Given the description of an element on the screen output the (x, y) to click on. 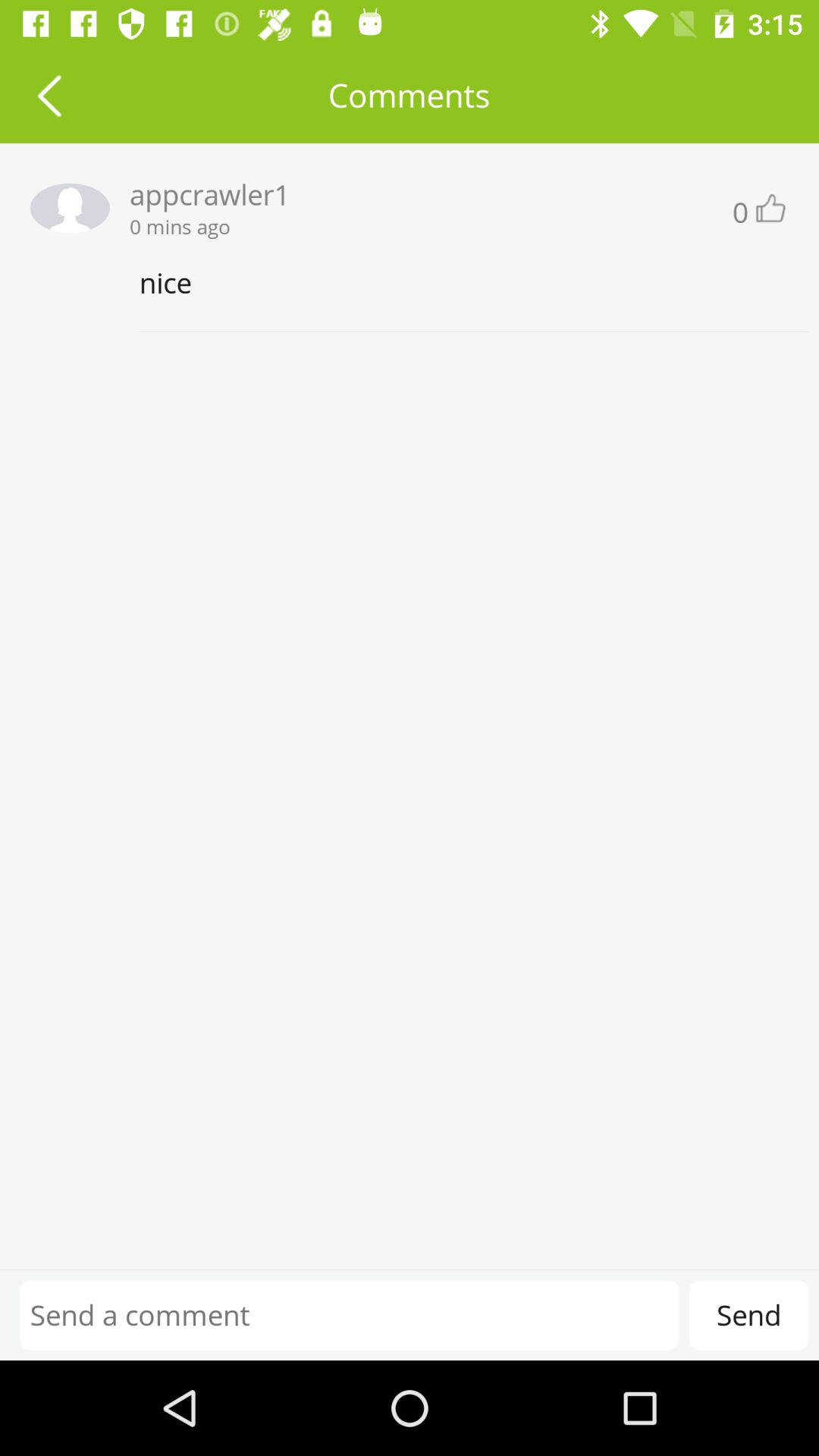
select the item to the left of the appcrawler1 (64, 208)
